Given the description of an element on the screen output the (x, y) to click on. 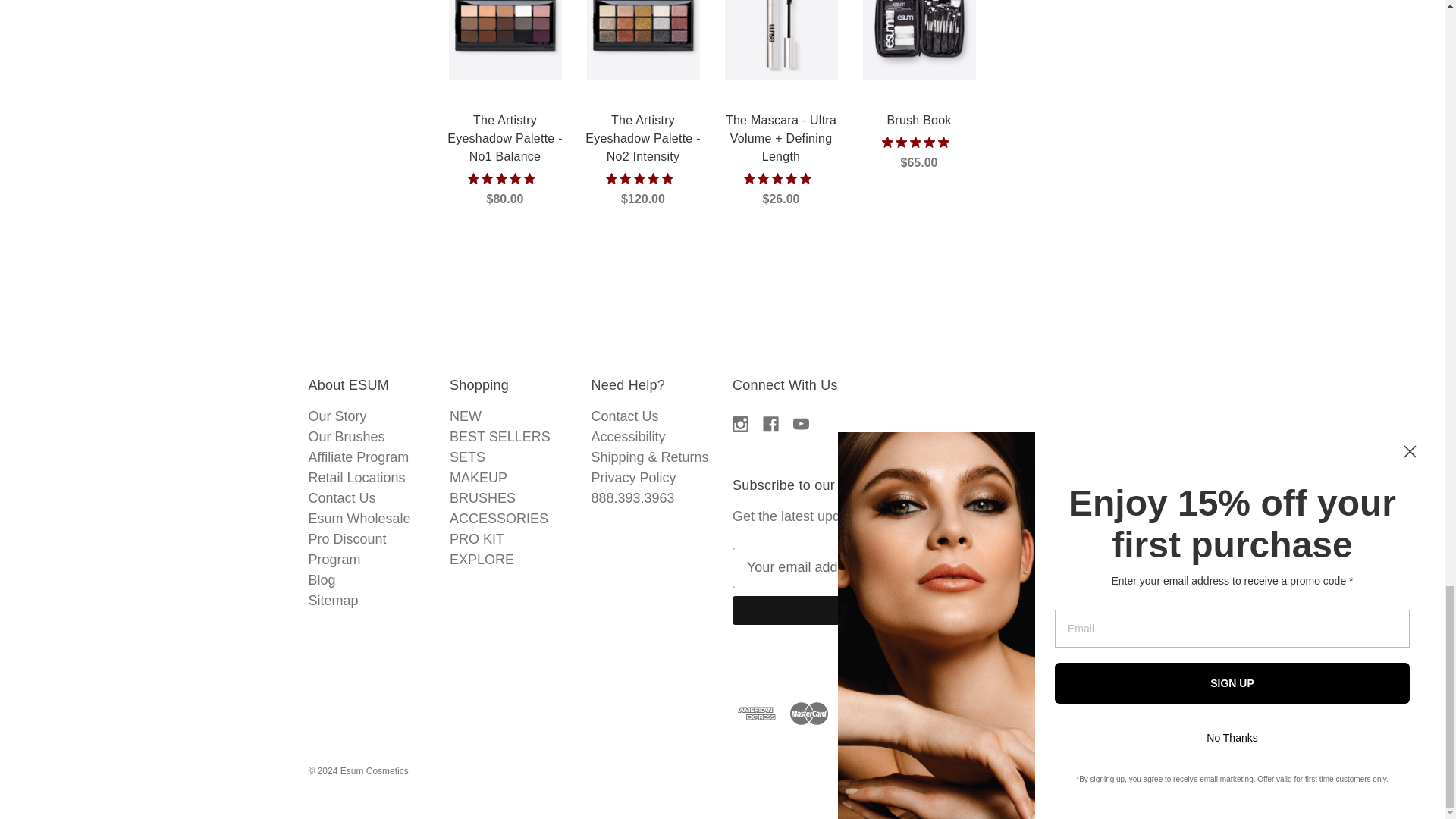
Subscribe (934, 610)
